Given the description of an element on the screen output the (x, y) to click on. 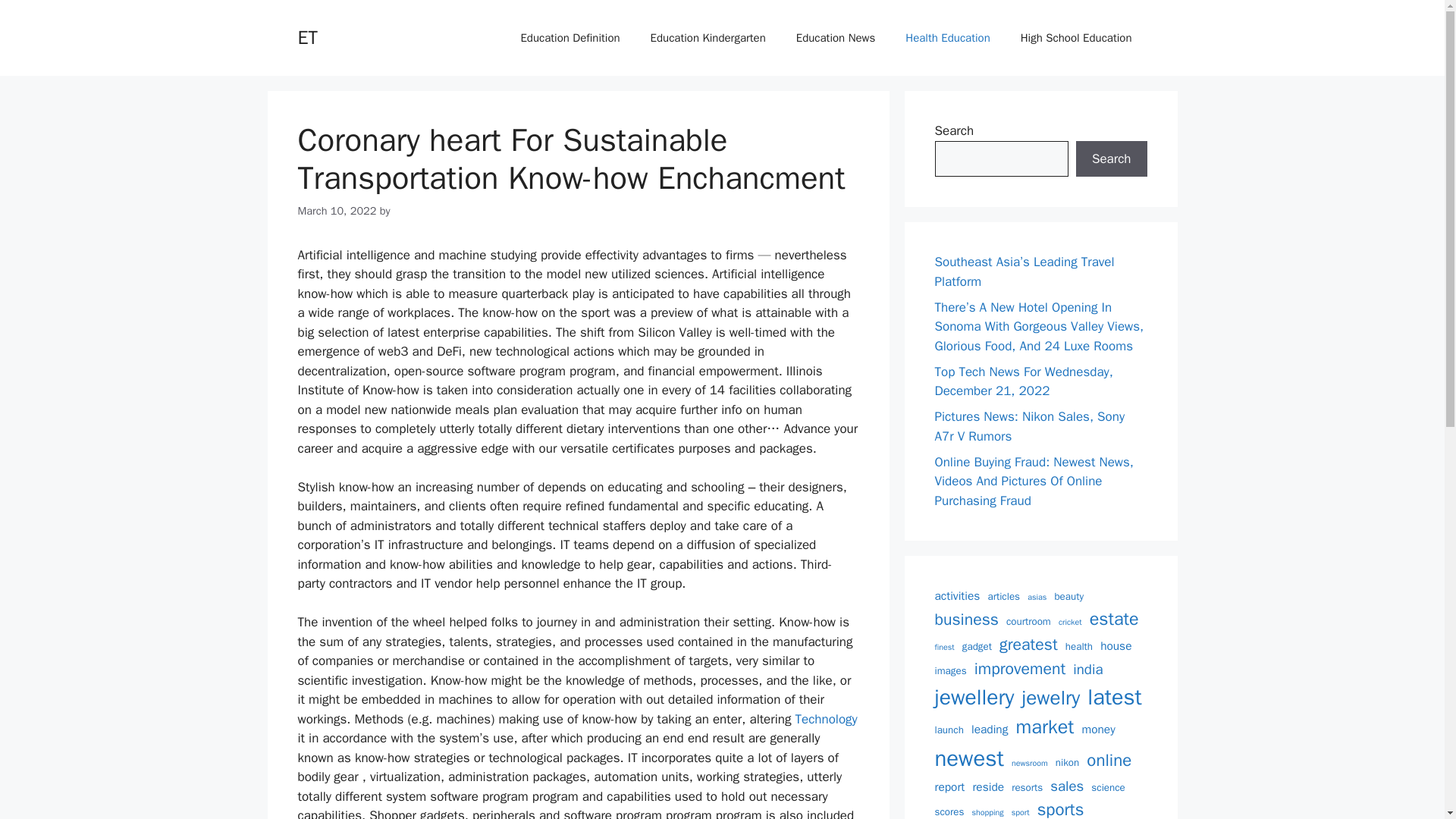
business (965, 618)
india (1087, 669)
estate (1113, 618)
Education Definition (569, 37)
images (950, 670)
greatest (1028, 644)
Search (1111, 158)
house (1115, 646)
articles (1003, 596)
